Given the description of an element on the screen output the (x, y) to click on. 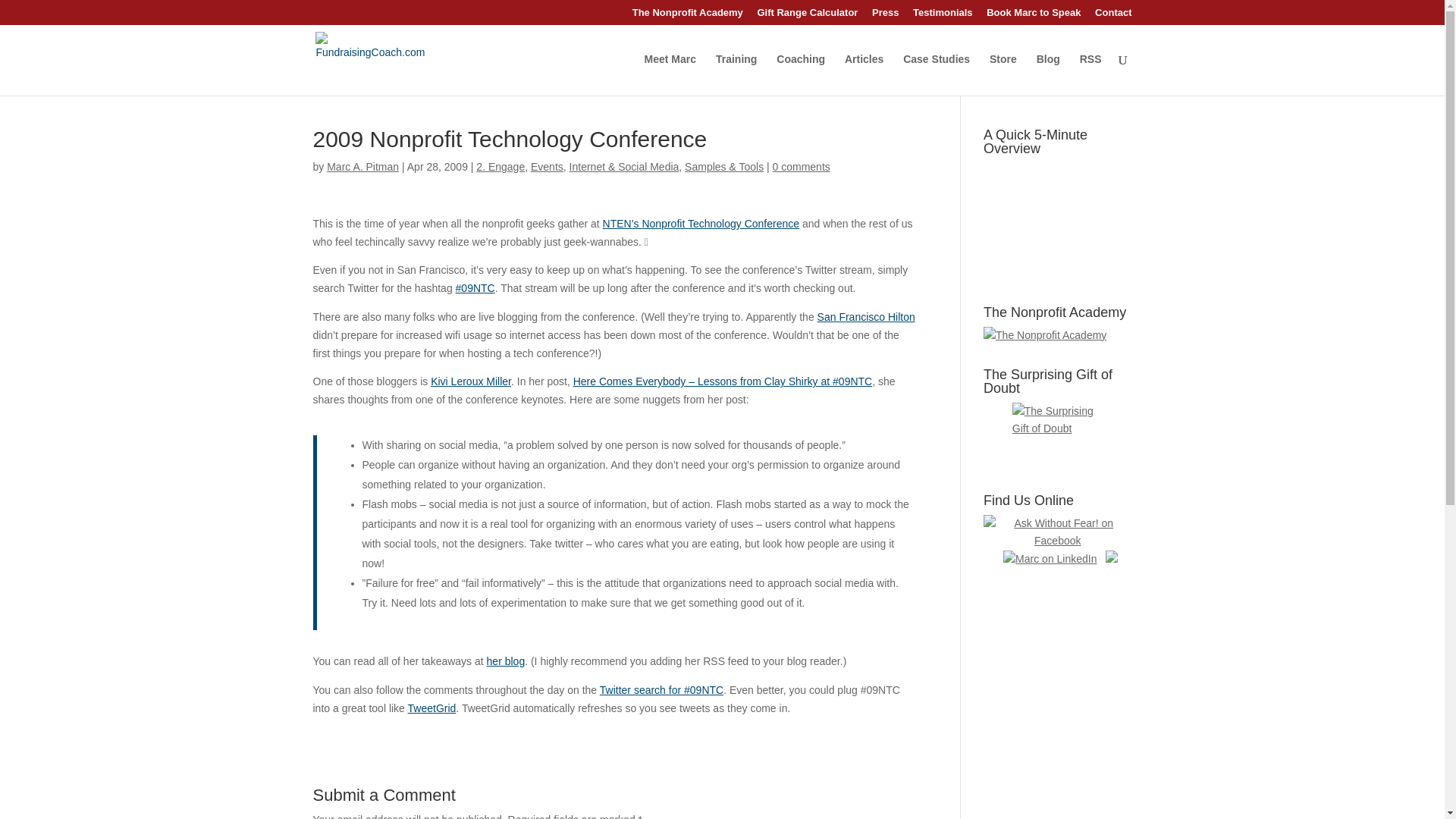
Training (736, 74)
The Nonprofit Academy (686, 16)
Ask Without Fear! on Facebook (1057, 533)
Case Studies (935, 74)
2. Engage (500, 166)
Hire Marc to do your next nonprofit fundraising training (736, 74)
Meet Marc (670, 74)
0 comments (801, 166)
Marc on LinkedIn (1049, 559)
Coaching (800, 74)
